Given the description of an element on the screen output the (x, y) to click on. 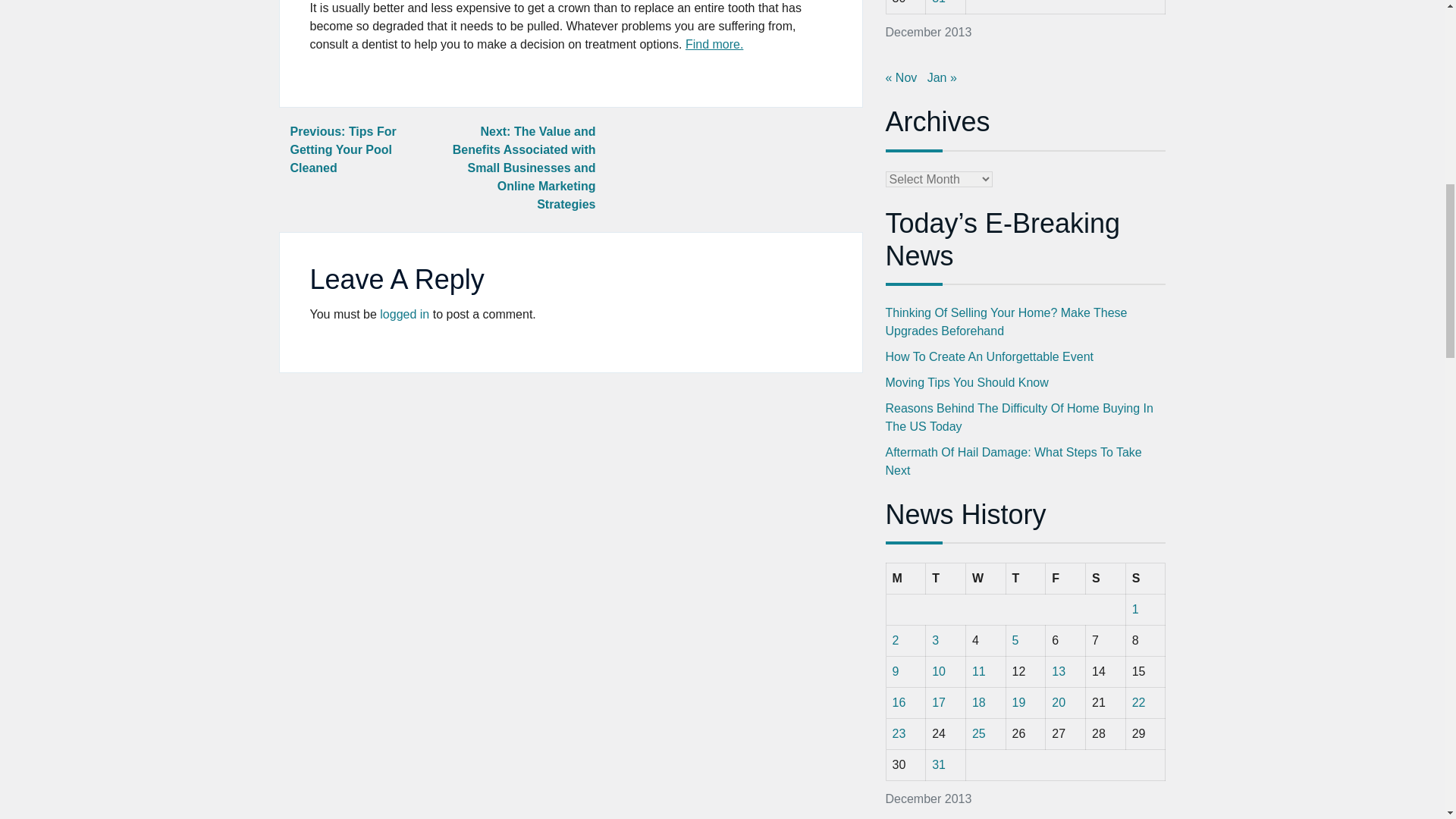
Monday (905, 578)
logged in (404, 314)
Find more. (713, 43)
Tuesday (946, 578)
Previous: Tips For Getting Your Pool Cleaned (342, 149)
Wednesday (985, 578)
Porcelain veneers average cost (713, 43)
